Given the description of an element on the screen output the (x, y) to click on. 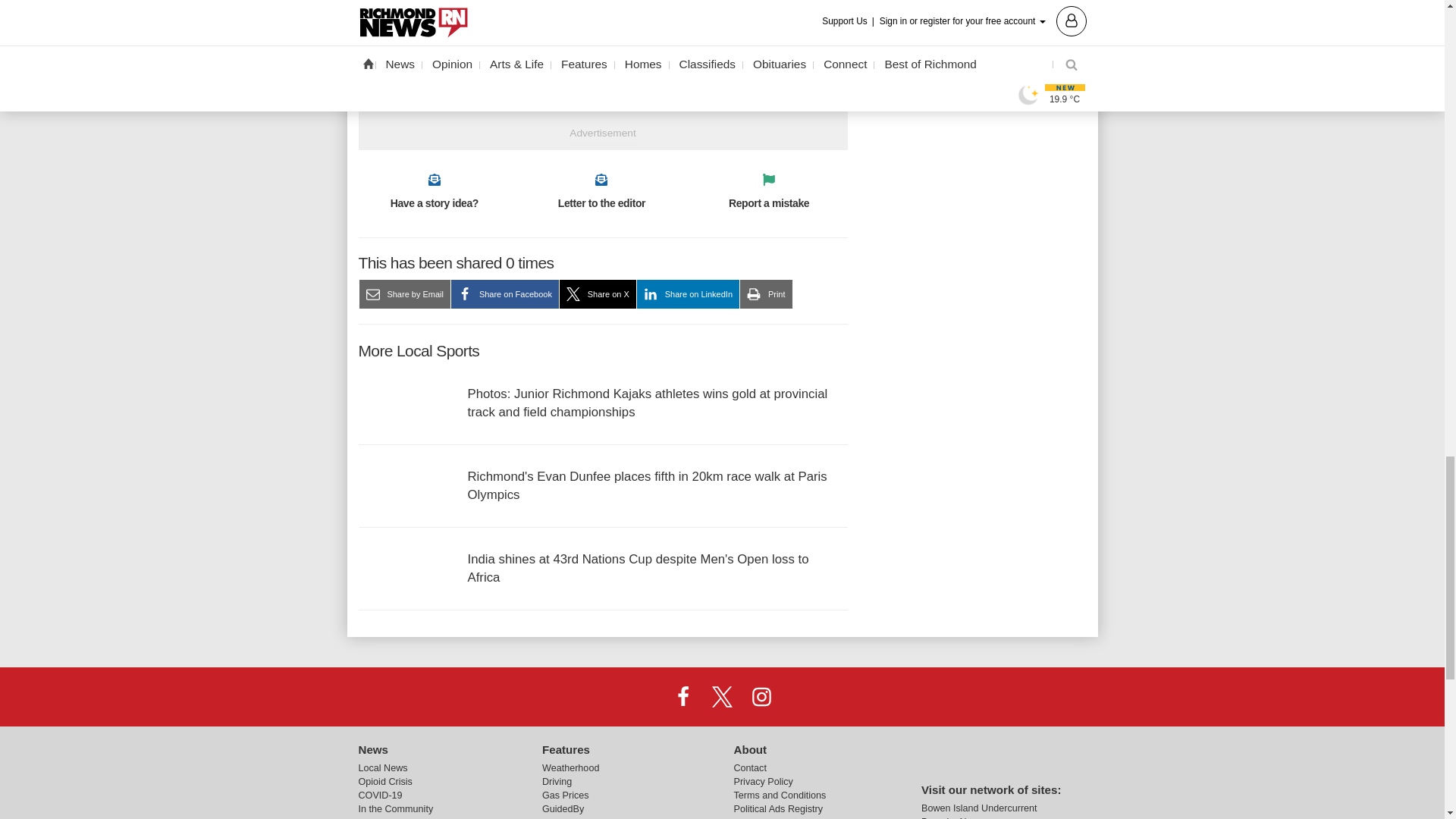
X (721, 696)
Instagram (760, 696)
Facebook (683, 696)
